Given the description of an element on the screen output the (x, y) to click on. 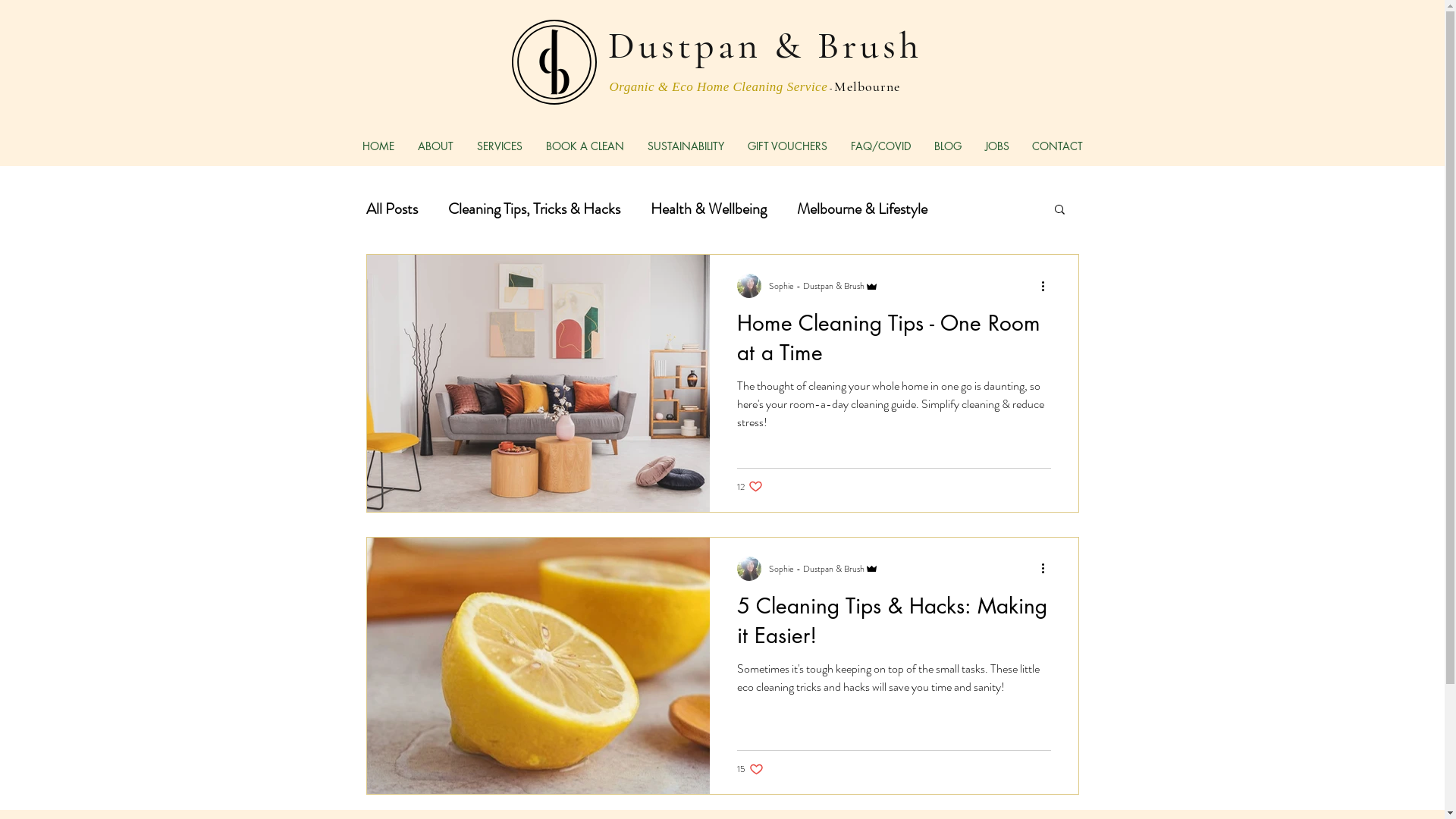
Melbourne & Lifestyle Element type: text (861, 208)
All Posts Element type: text (391, 208)
15 likes. Post not marked as liked
15 Element type: text (750, 768)
JOBS Element type: text (996, 145)
ABOUT Element type: text (435, 145)
Dustpan & Brush Element type: text (765, 43)
Organic & Eco Home Cleaning Service - Melbourne Element type: text (754, 85)
HOME Element type: text (377, 145)
SUSTAINABILITY Element type: text (685, 145)
GIFT VOUCHERS Element type: text (786, 145)
Home Cleaning Tips - One Room at a Time Element type: text (894, 341)
SERVICES Element type: text (499, 145)
BOOK A CLEAN Element type: text (584, 145)
BLOG Element type: text (947, 145)
FAQ/COVID Element type: text (880, 145)
CONTACT Element type: text (1057, 145)
12 likes. Post not marked as liked
12 Element type: text (749, 486)
5 Cleaning Tips & Hacks: Making it Easier! Element type: text (894, 623)
Cleaning Tips, Tricks & Hacks Element type: text (533, 208)
Health & Wellbeing Element type: text (708, 208)
